Given the description of an element on the screen output the (x, y) to click on. 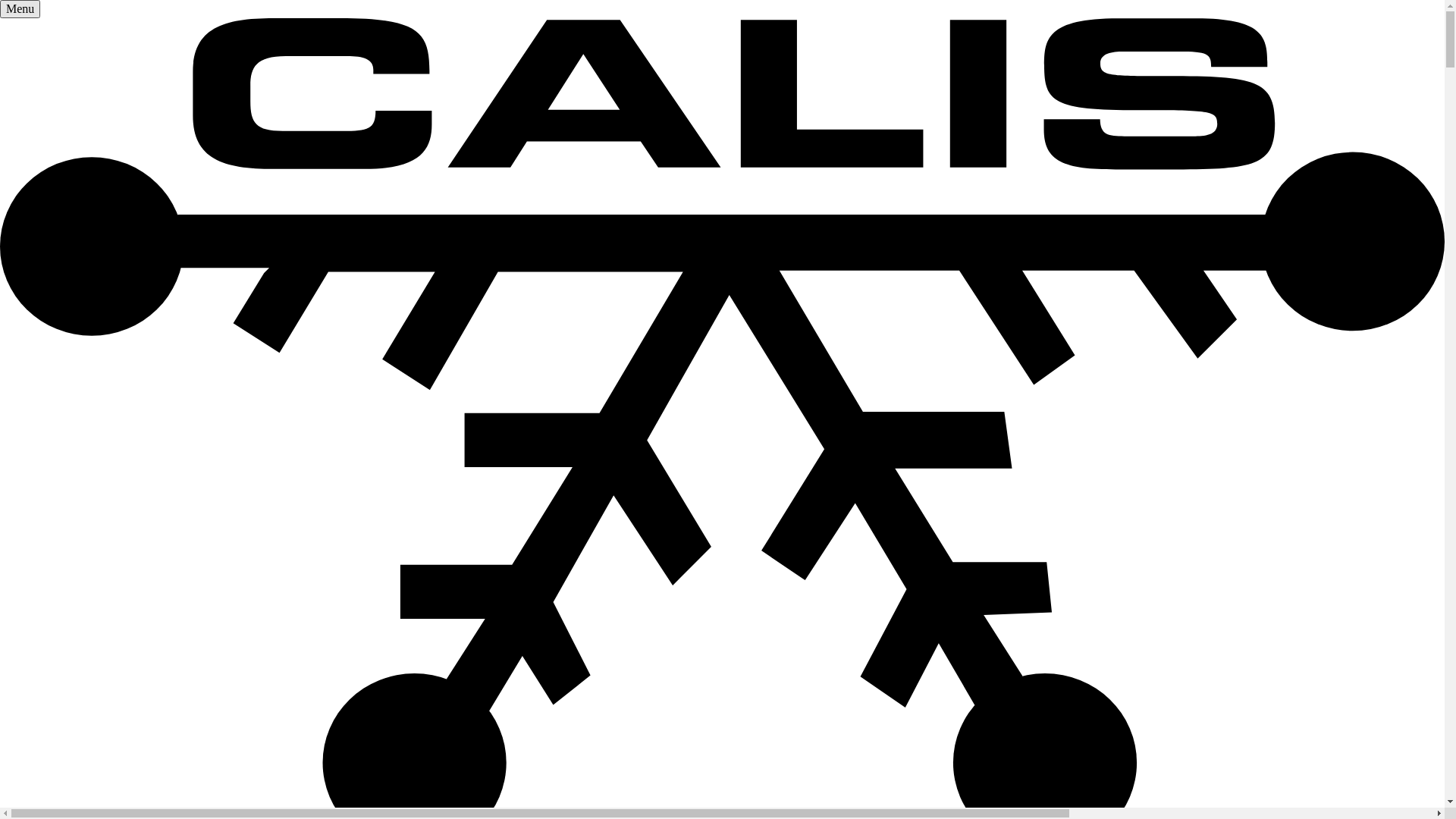
Menu Element type: text (20, 9)
